Given the description of an element on the screen output the (x, y) to click on. 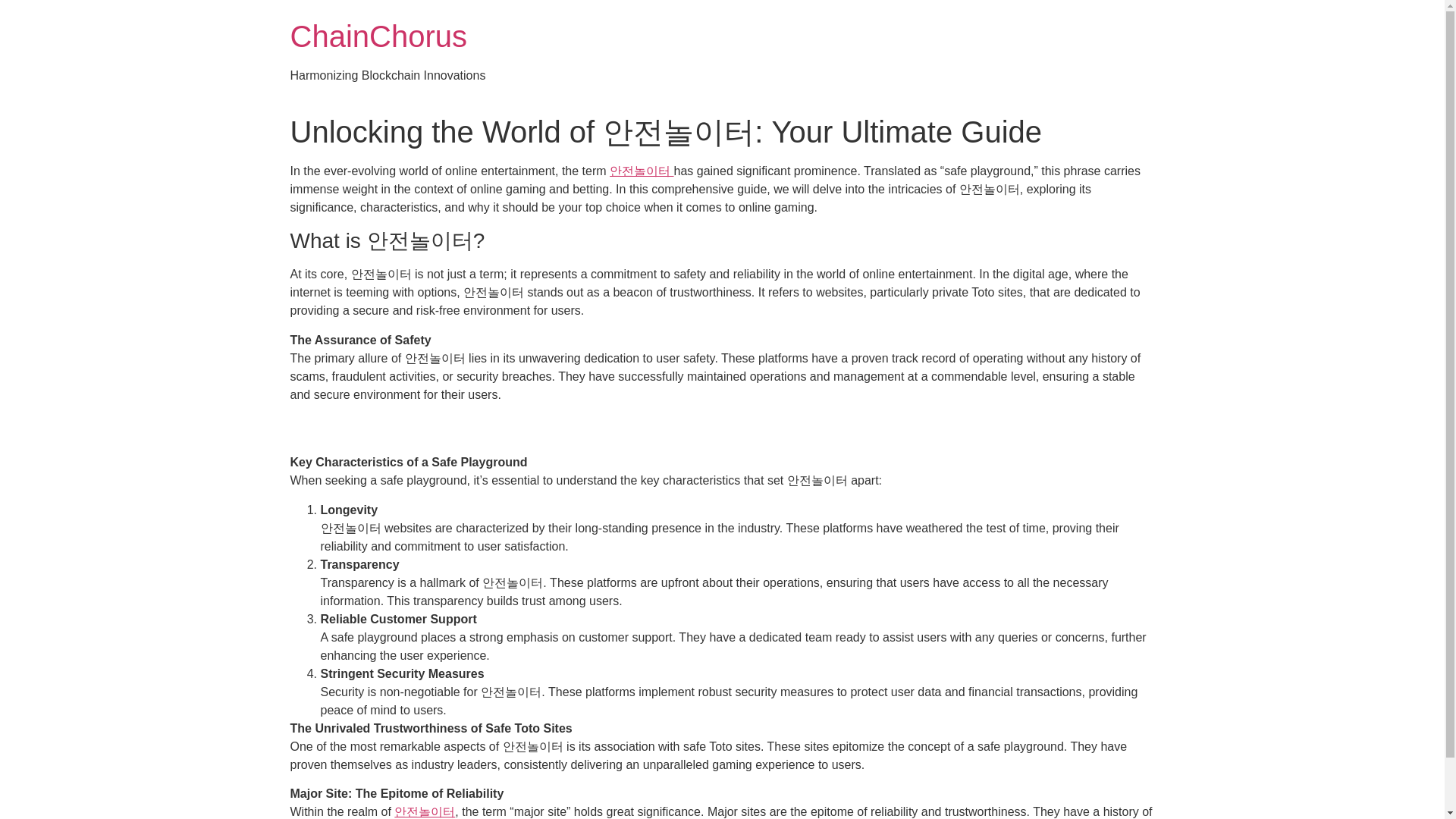
Home (377, 36)
ChainChorus (377, 36)
